Given the description of an element on the screen output the (x, y) to click on. 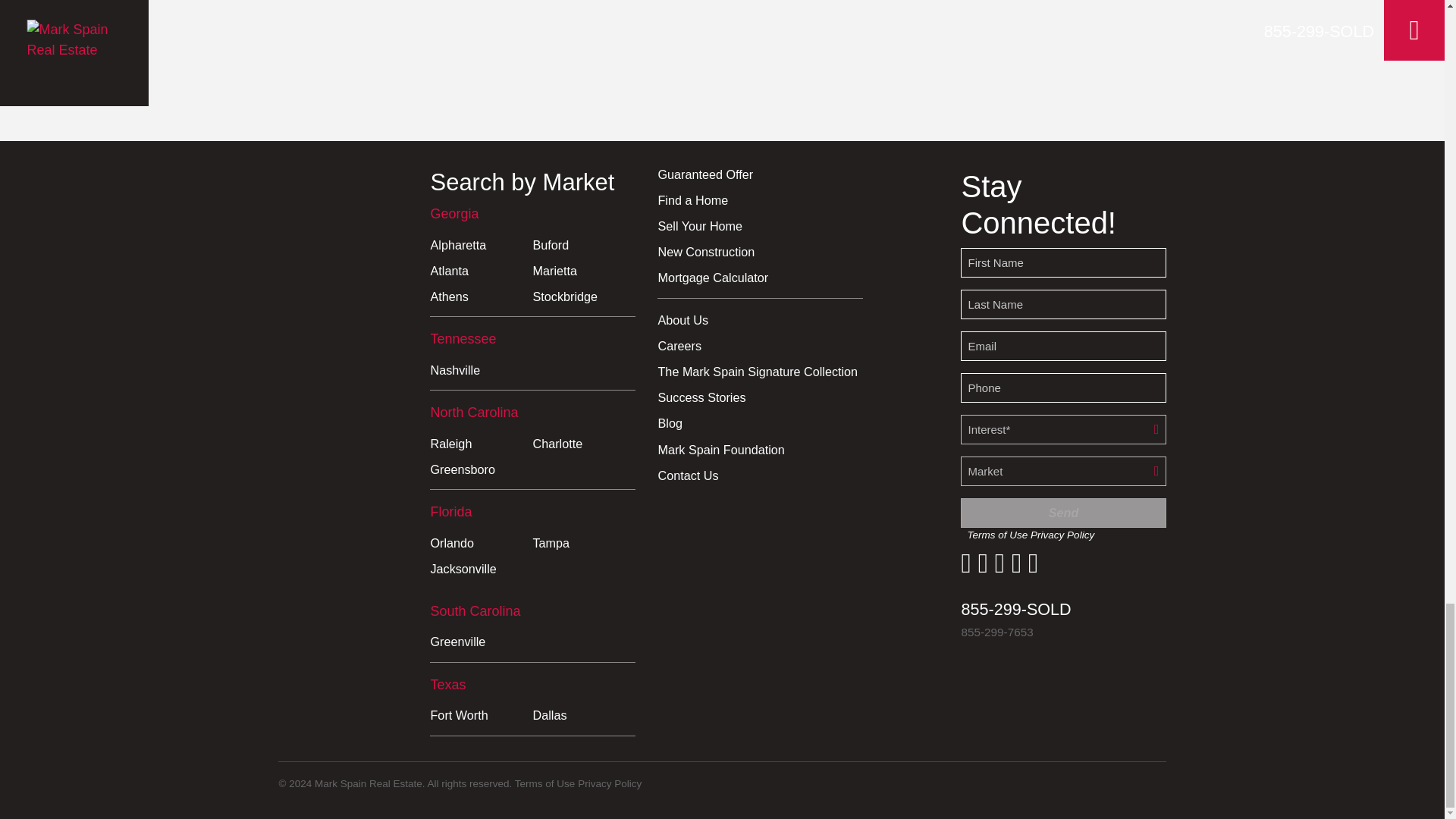
Send (1063, 512)
Terms of Use (545, 783)
Privacy Policy (1062, 534)
Privacy Policy (610, 783)
